Given the description of an element on the screen output the (x, y) to click on. 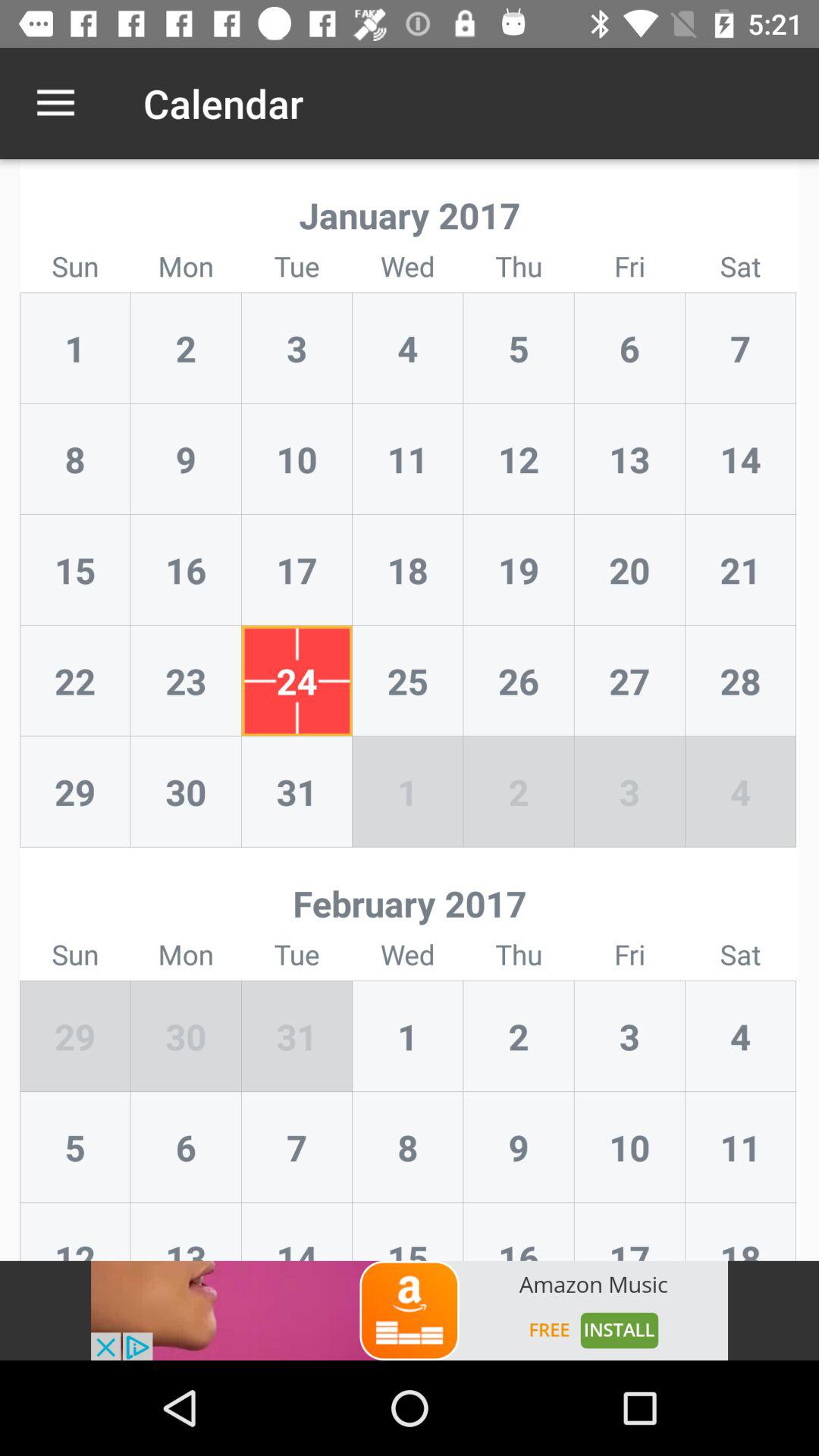
open an advertisement (409, 1310)
